Given the description of an element on the screen output the (x, y) to click on. 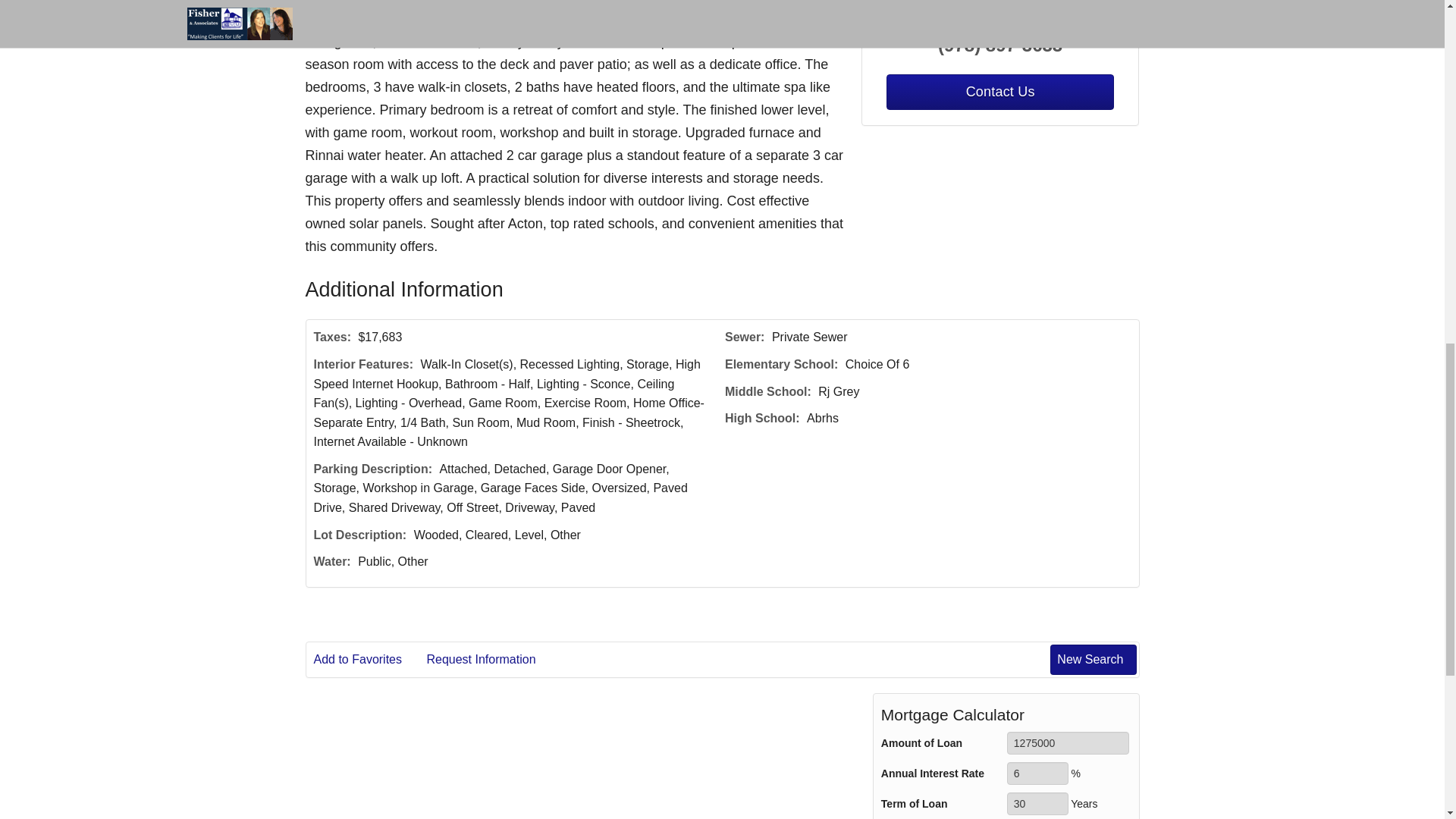
30 (1037, 803)
6 (1037, 773)
Contact Us (999, 91)
1275000 (1068, 743)
